Given the description of an element on the screen output the (x, y) to click on. 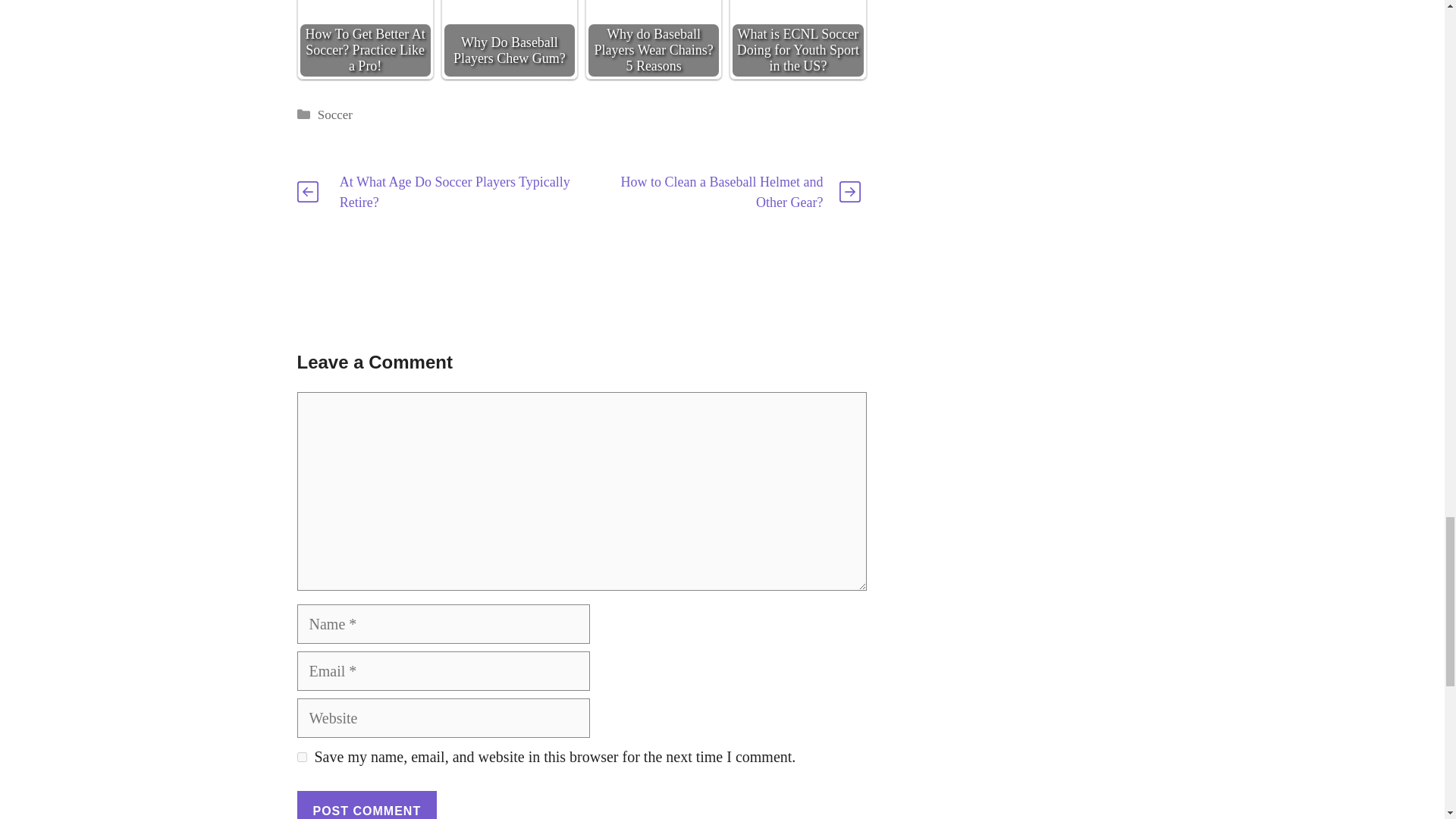
Post Comment (367, 805)
How to Clean a Baseball Helmet and Other Gear? (721, 191)
Why Do Baseball Players Chew Gum? (509, 39)
What is ECNL Soccer Doing for Youth Sport in the US? (797, 15)
Soccer (334, 114)
How To Get Better At Soccer? Practice Like a Pro! (364, 39)
yes (302, 757)
Why Do Baseball Players Chew Gum? (509, 11)
What is ECNL Soccer Doing for Youth Sport in the US? (797, 39)
Post Comment (367, 805)
Why do Baseball Players Wear Chains? 5 Reasons (653, 11)
At What Age Do Soccer Players Typically Retire? (454, 191)
How To Get Better At Soccer? Practice Like a Pro! (364, 15)
Why do Baseball Players Wear Chains? 5 Reasons (653, 39)
